Given the description of an element on the screen output the (x, y) to click on. 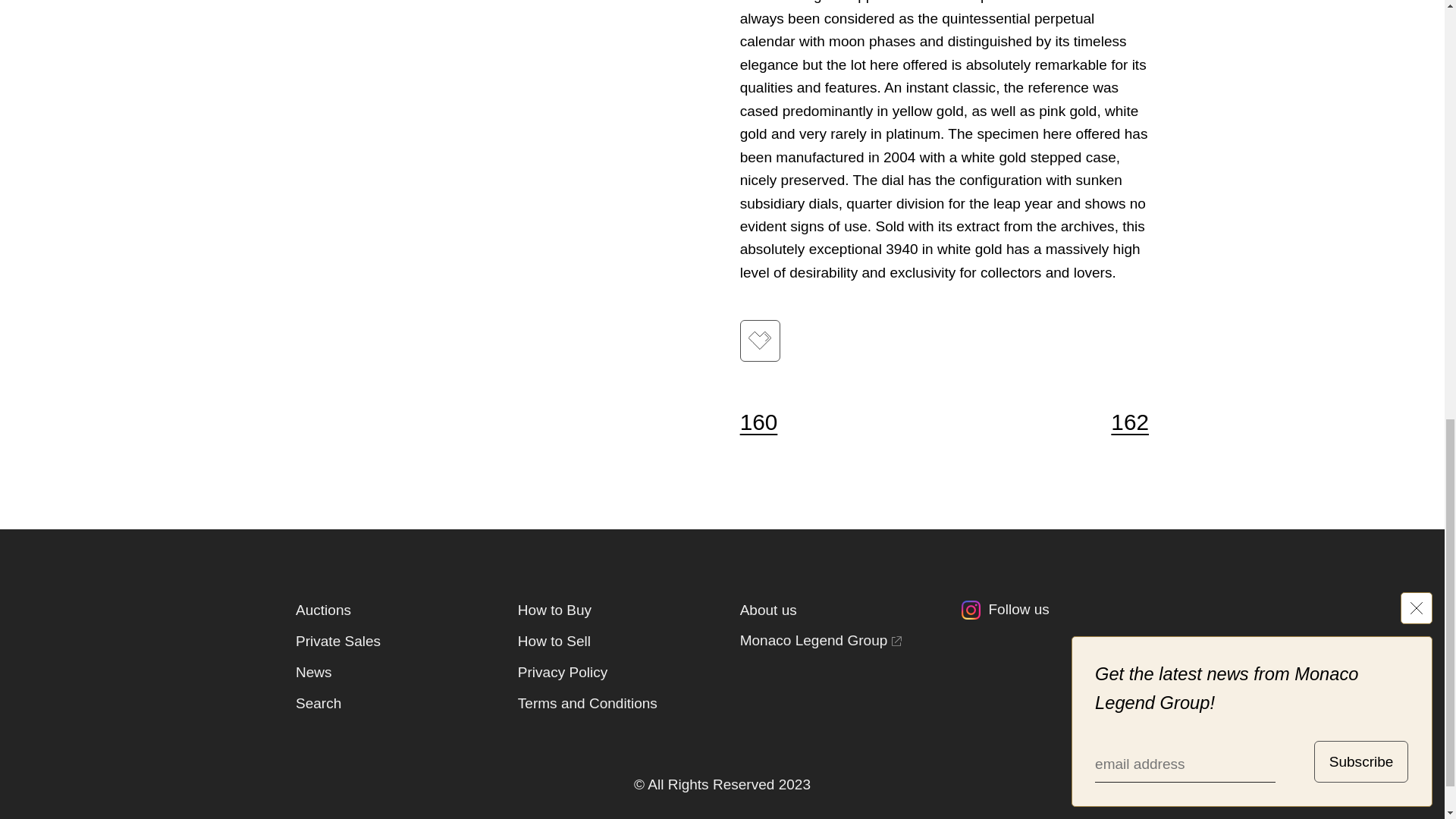
162 (1120, 422)
About us (767, 609)
Auctions (322, 609)
How to Buy (554, 609)
Privacy Policy (562, 671)
Follow us (1054, 613)
Search (317, 703)
News (313, 671)
Terms and Conditions (588, 703)
Private Sales (337, 640)
Monaco Legend Group (820, 640)
How to Sell (554, 640)
160 (767, 422)
